Given the description of an element on the screen output the (x, y) to click on. 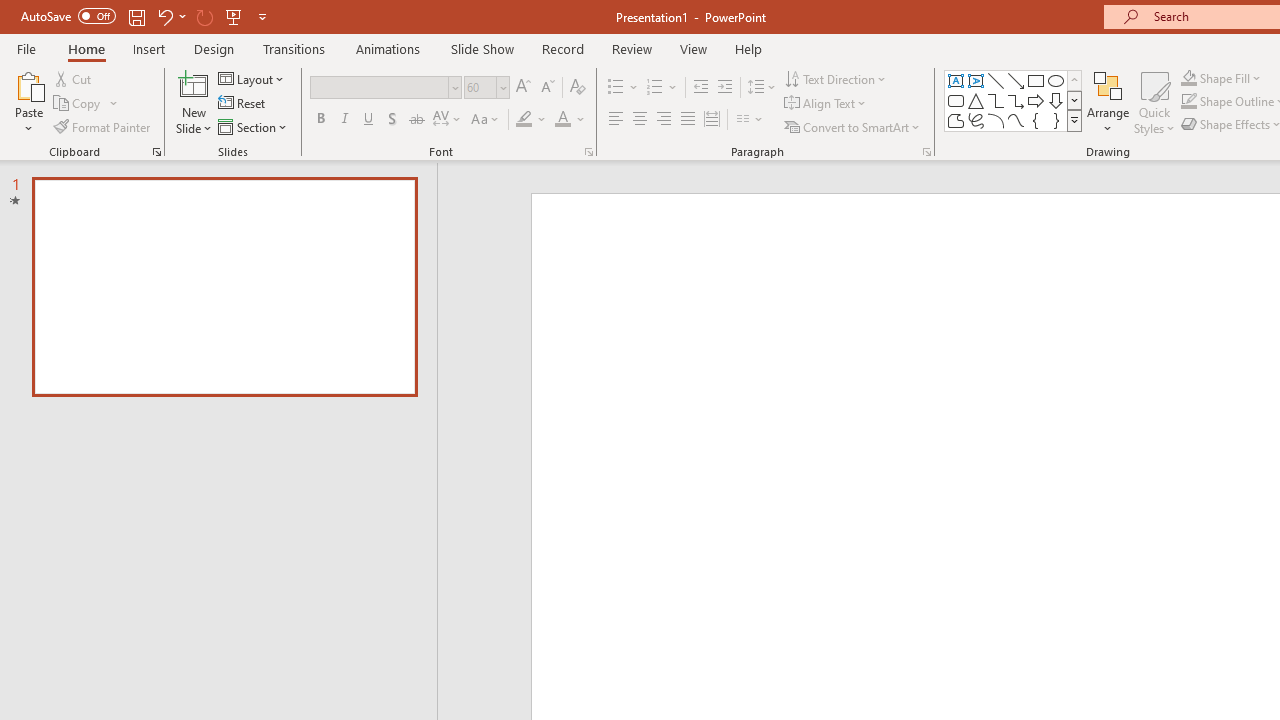
Arc (995, 120)
Layout (252, 78)
Font Color (569, 119)
Arrange (1108, 102)
AutomationID: ShapesInsertGallery (1014, 100)
New Slide (193, 84)
Paste (28, 84)
Text Direction (836, 78)
Strikethrough (416, 119)
Align Left (616, 119)
Font (385, 87)
Freeform: Scribble (975, 120)
Bold (320, 119)
